Given the description of an element on the screen output the (x, y) to click on. 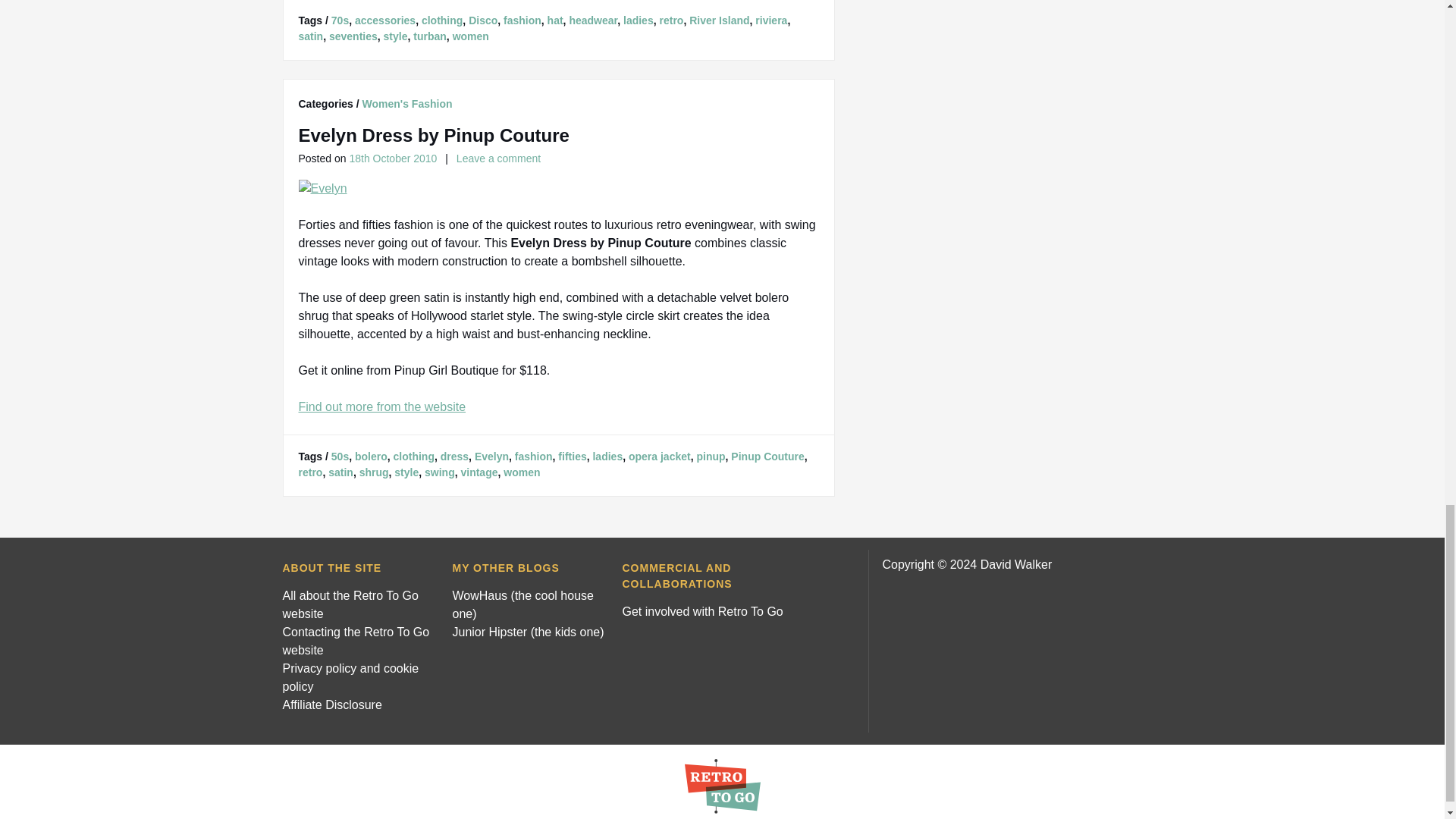
Evelyn (322, 188)
